Given the description of an element on the screen output the (x, y) to click on. 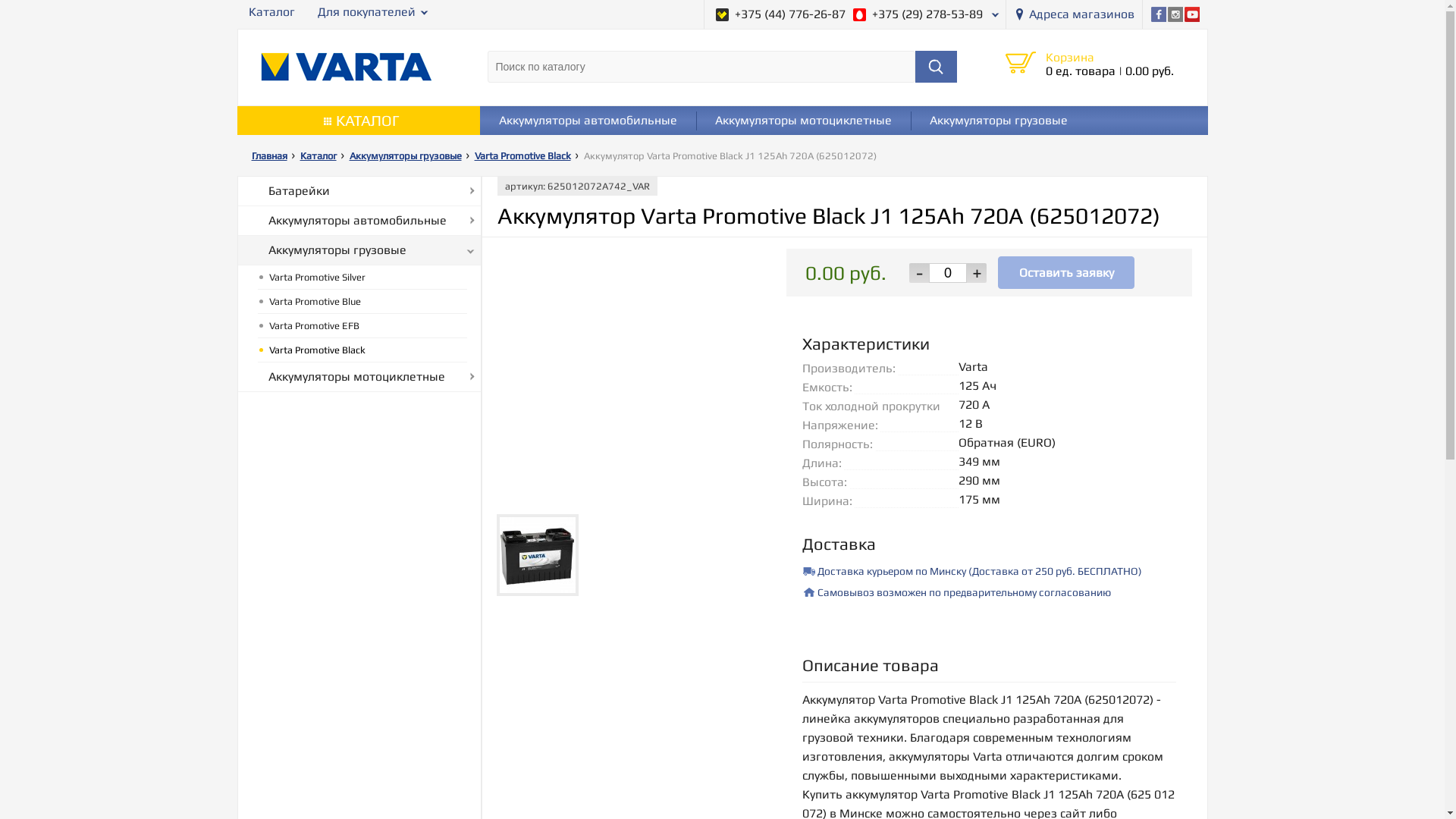
Varta Promotive Silver Element type: text (362, 276)
Varta Promotive EFB Element type: text (362, 325)
Varta Promotive Black Element type: text (362, 349)
Varta Promotive Black Element type: text (527, 155)
+ Element type: text (976, 272)
+375 (44) 776-26-87 Element type: text (780, 14)
- Element type: text (918, 272)
Varta Promotive Blue Element type: text (362, 301)
+375 (29) 278-53-89 Element type: text (917, 14)
